Given the description of an element on the screen output the (x, y) to click on. 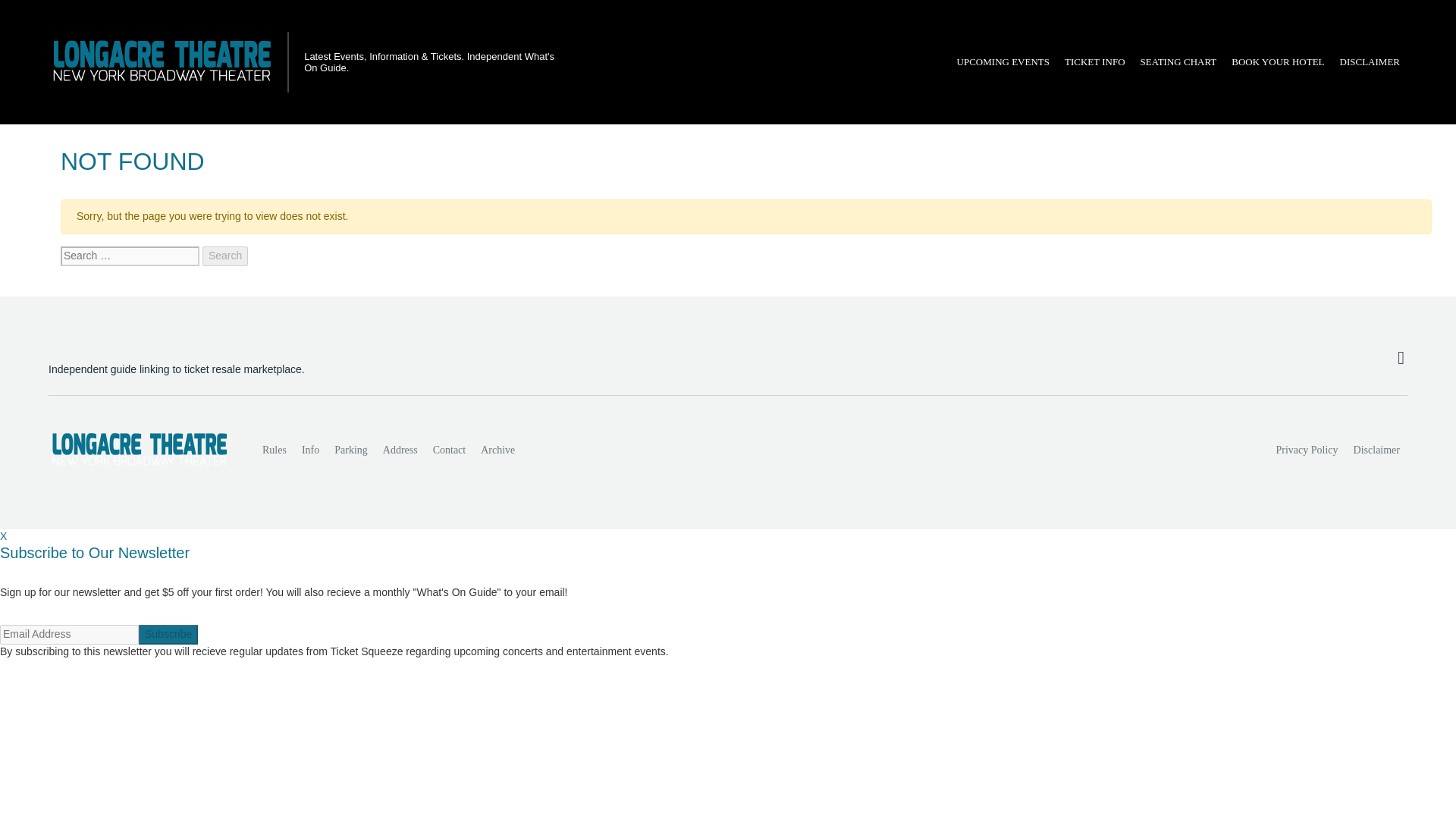
Info (310, 450)
Search (224, 256)
UPCOMING EVENTS (1003, 61)
Search (224, 256)
Archive (497, 450)
Contact (449, 450)
Privacy Policy (1306, 450)
SEATING CHART (1178, 61)
Parking (350, 450)
Search (224, 256)
